Given the description of an element on the screen output the (x, y) to click on. 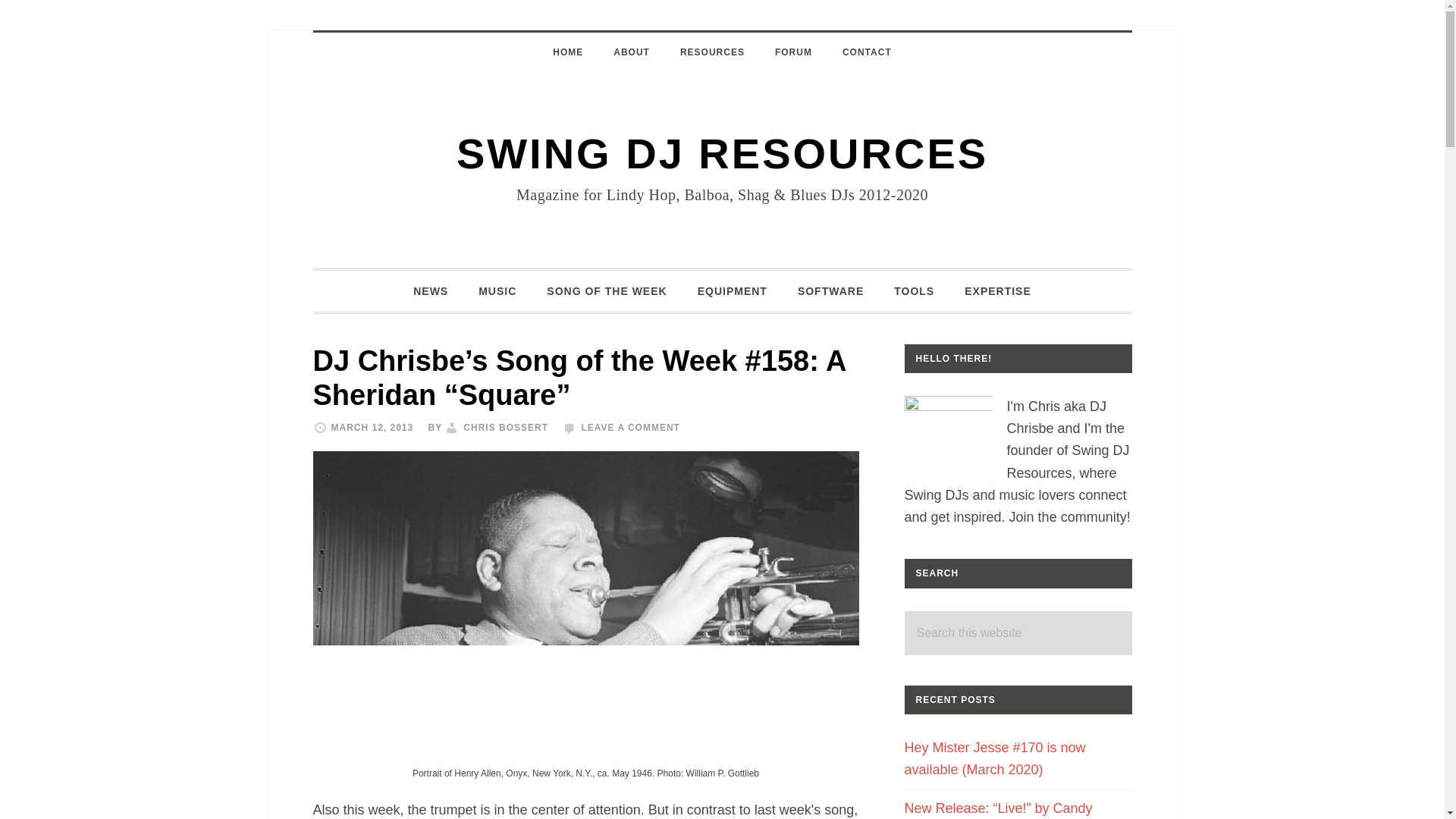
NEWS (430, 290)
EXPERTISE (997, 290)
MUSIC (497, 290)
RESOURCES (712, 52)
SWING DJ RESOURCES (722, 153)
ABOUT (631, 52)
SOFTWARE (831, 290)
CONTACT (867, 52)
CHRIS BOSSERT (505, 427)
SONG OF THE WEEK (606, 290)
LEAVE A COMMENT (629, 427)
HOME (567, 52)
